Given the description of an element on the screen output the (x, y) to click on. 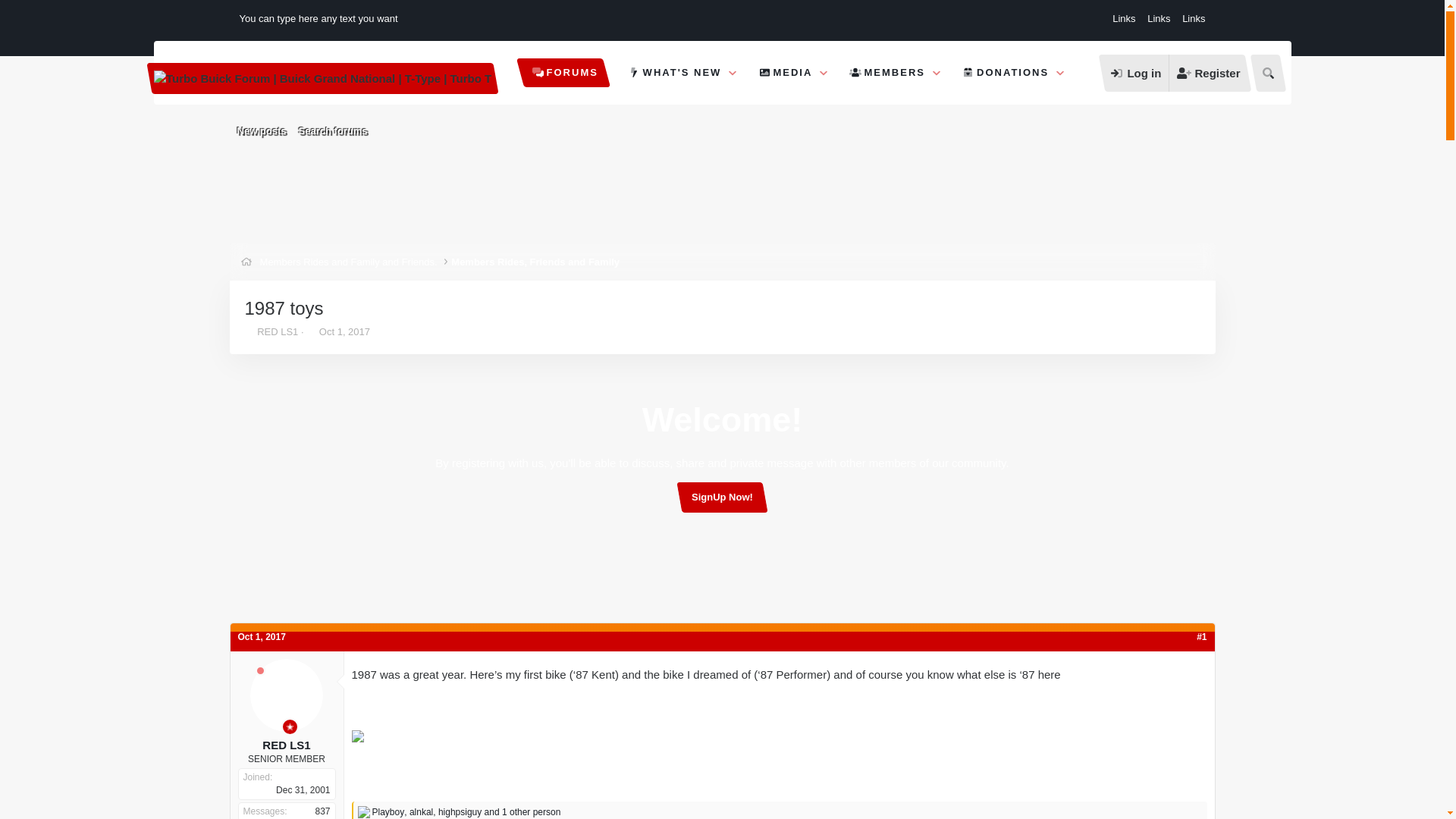
WHAT'S NEW (667, 72)
Links Links Links (1156, 18)
Search forums (792, 72)
Log in (333, 130)
New posts (1135, 72)
Oct 1, 2017 at 4:37 PM (261, 130)
Thread starter (343, 331)
FORUMS (248, 330)
